Given the description of an element on the screen output the (x, y) to click on. 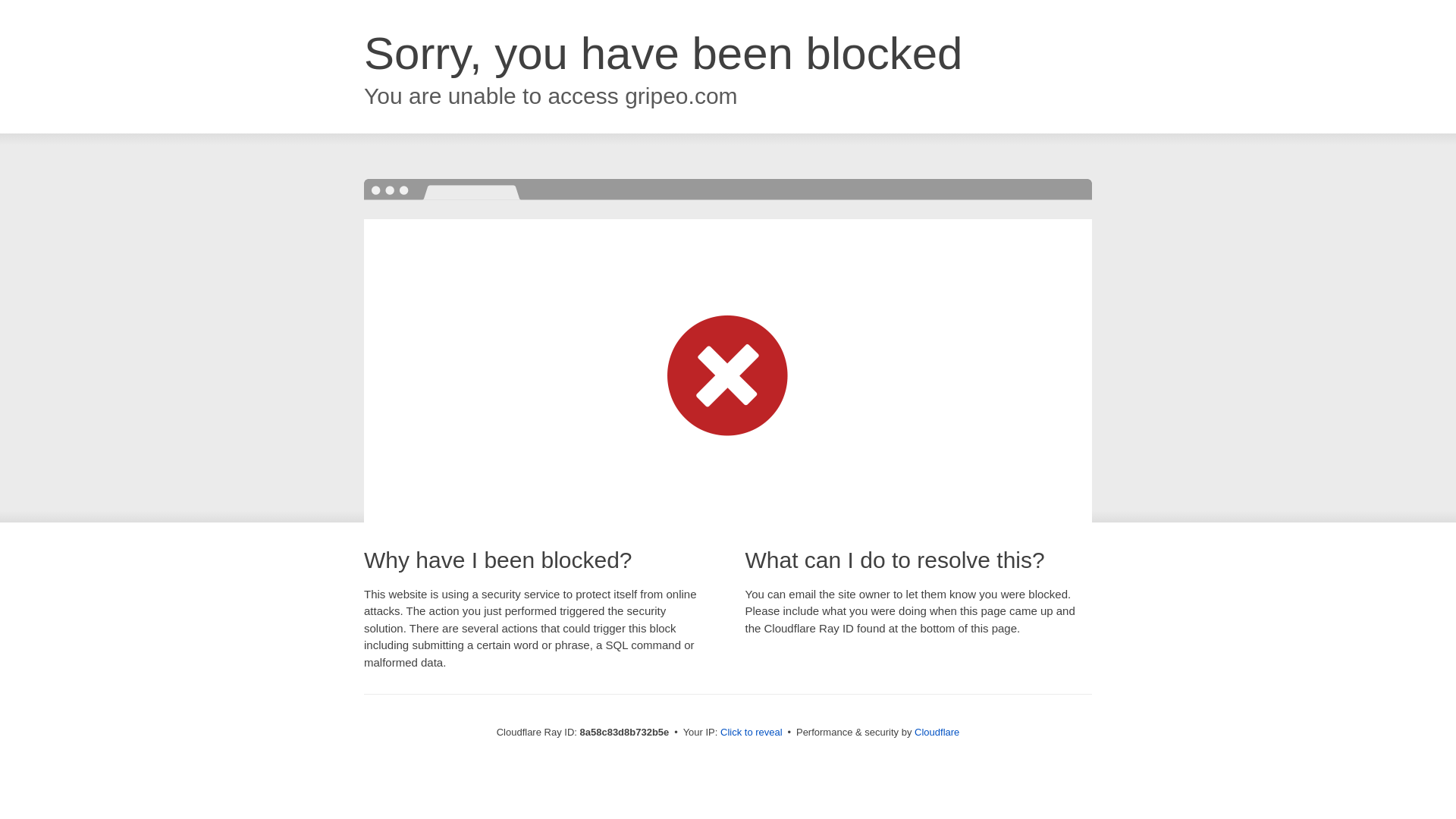
Click to reveal (751, 732)
Cloudflare (936, 731)
